Given the description of an element on the screen output the (x, y) to click on. 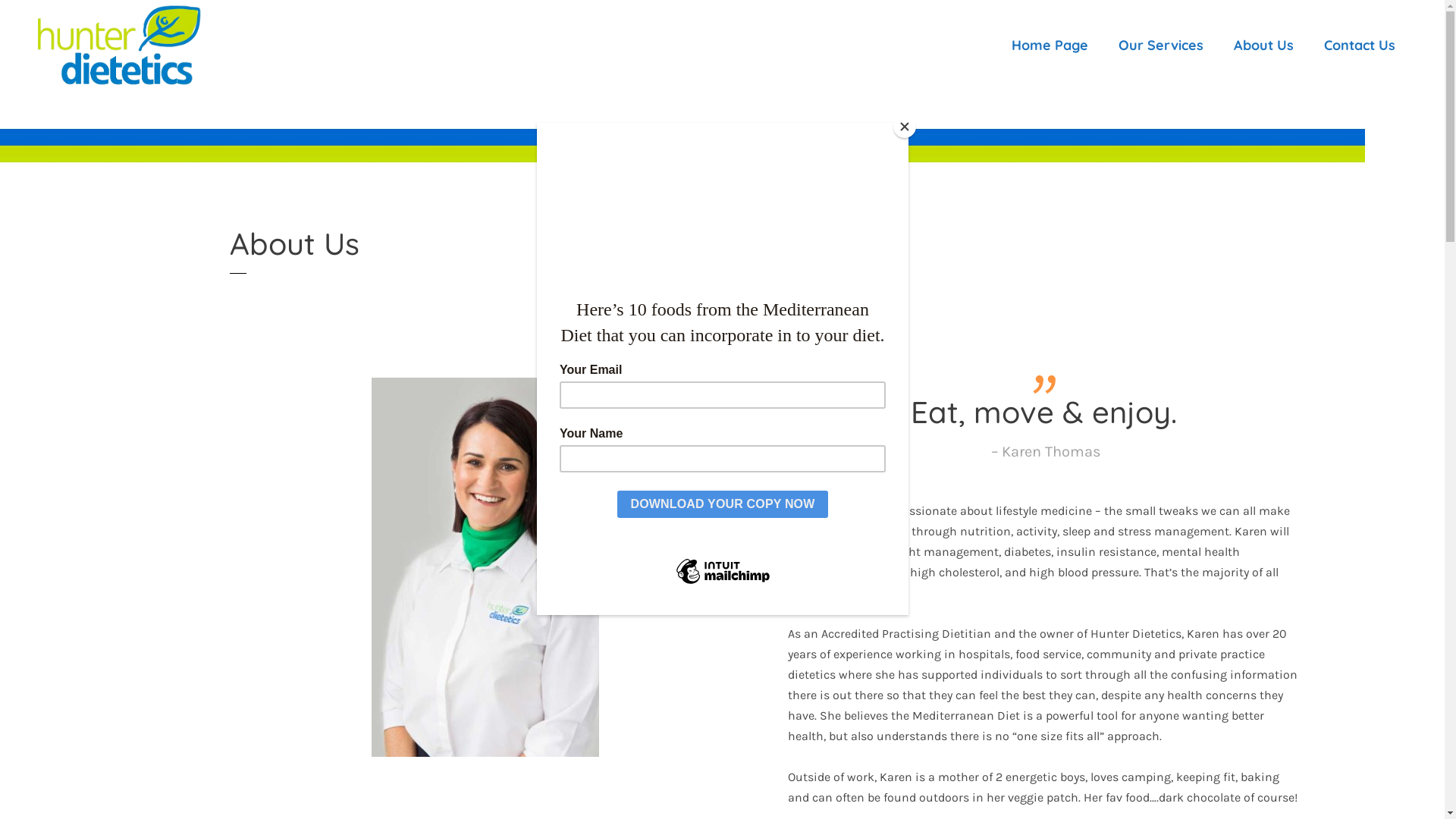
lines-5 Element type: hover (682, 145)
Home Page Element type: text (1049, 45)
Contact Us Element type: text (1359, 45)
testim Element type: hover (1043, 384)
Headshot2 Element type: hover (485, 566)
About Us Element type: text (1263, 45)
Our Services Element type: text (1160, 45)
